Given the description of an element on the screen output the (x, y) to click on. 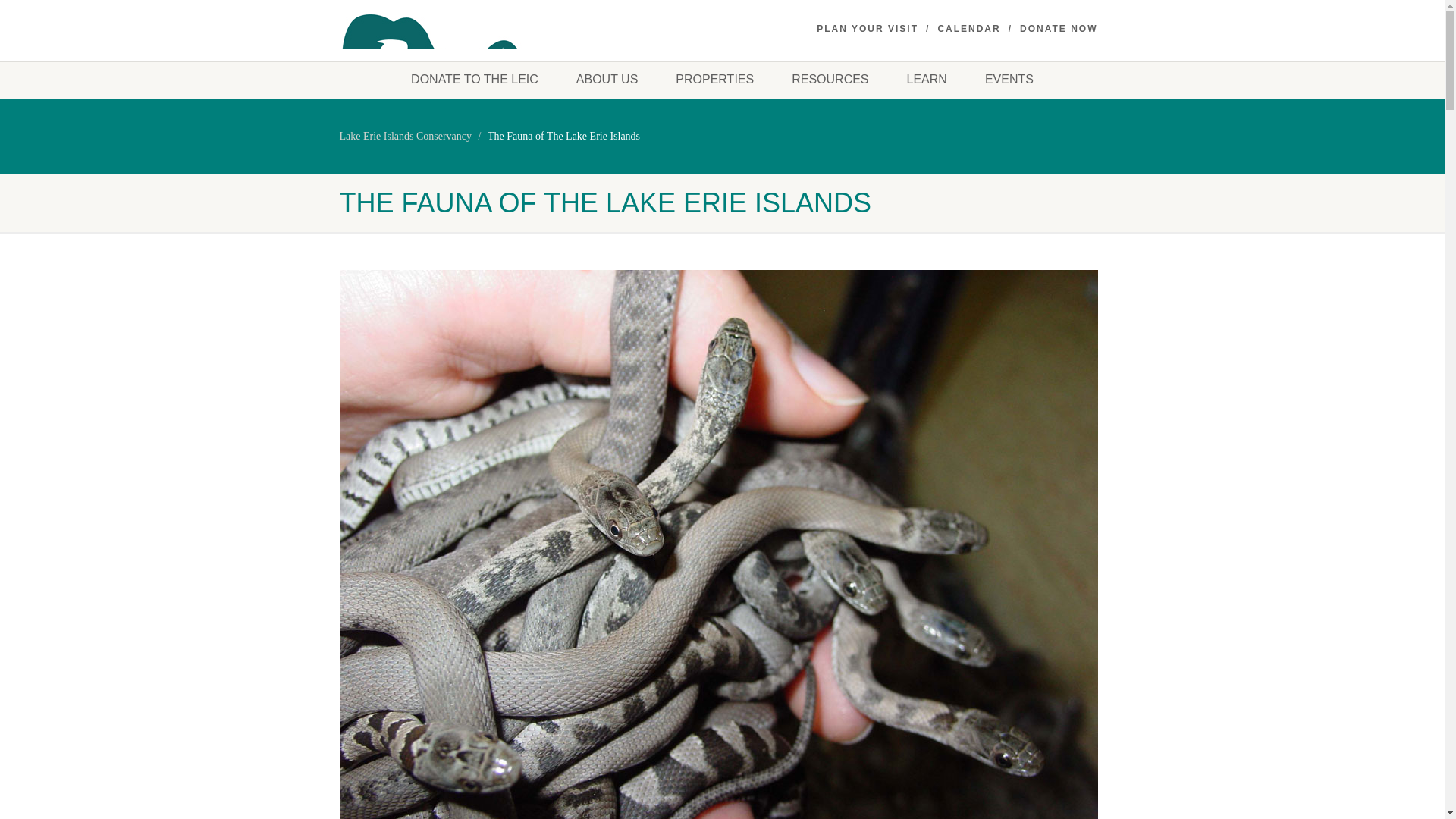
LEARN (927, 79)
CALENDAR (968, 29)
Lake Erie Islands Conservancy (405, 135)
RESOURCES (829, 79)
Go to Lake Erie Islands Conservancy. (405, 135)
PLAN YOUR VISIT (867, 29)
DONATE TO THE LEIC (474, 79)
ABOUT US (607, 79)
EVENTS (1009, 79)
Logo (459, 80)
DONATE NOW (1058, 29)
PROPERTIES (714, 79)
